Given the description of an element on the screen output the (x, y) to click on. 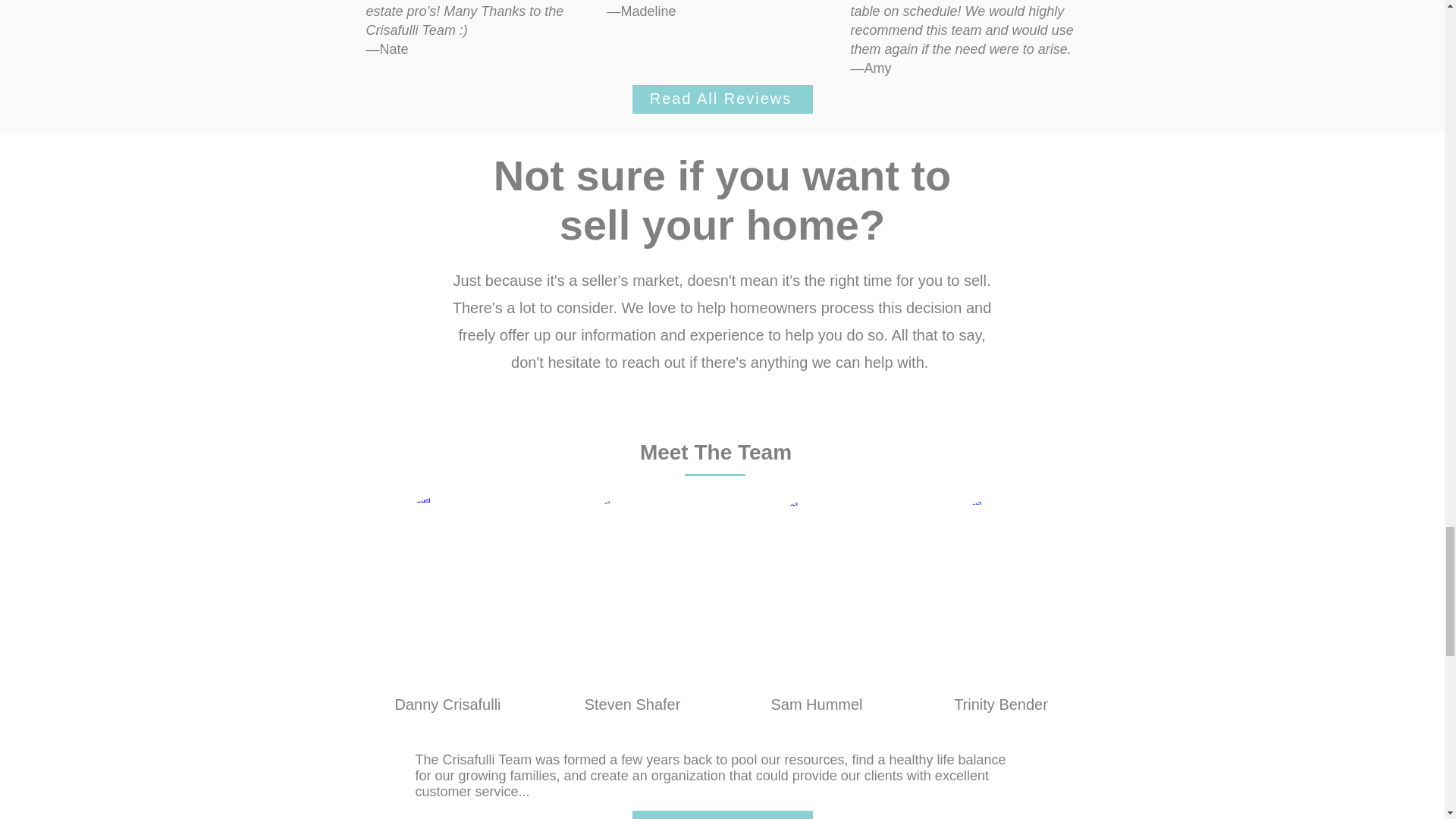
Read All Reviews (721, 99)
guy3.jpg (819, 581)
The Crisafulli Team (473, 759)
Trinity Bender (1000, 704)
guy3.jpg (634, 579)
guy2.jpg (448, 579)
Danny Crisafulli (447, 704)
Sam Hummel (815, 704)
Steven Shafer (633, 704)
guy3.jpg (1003, 581)
